Given the description of an element on the screen output the (x, y) to click on. 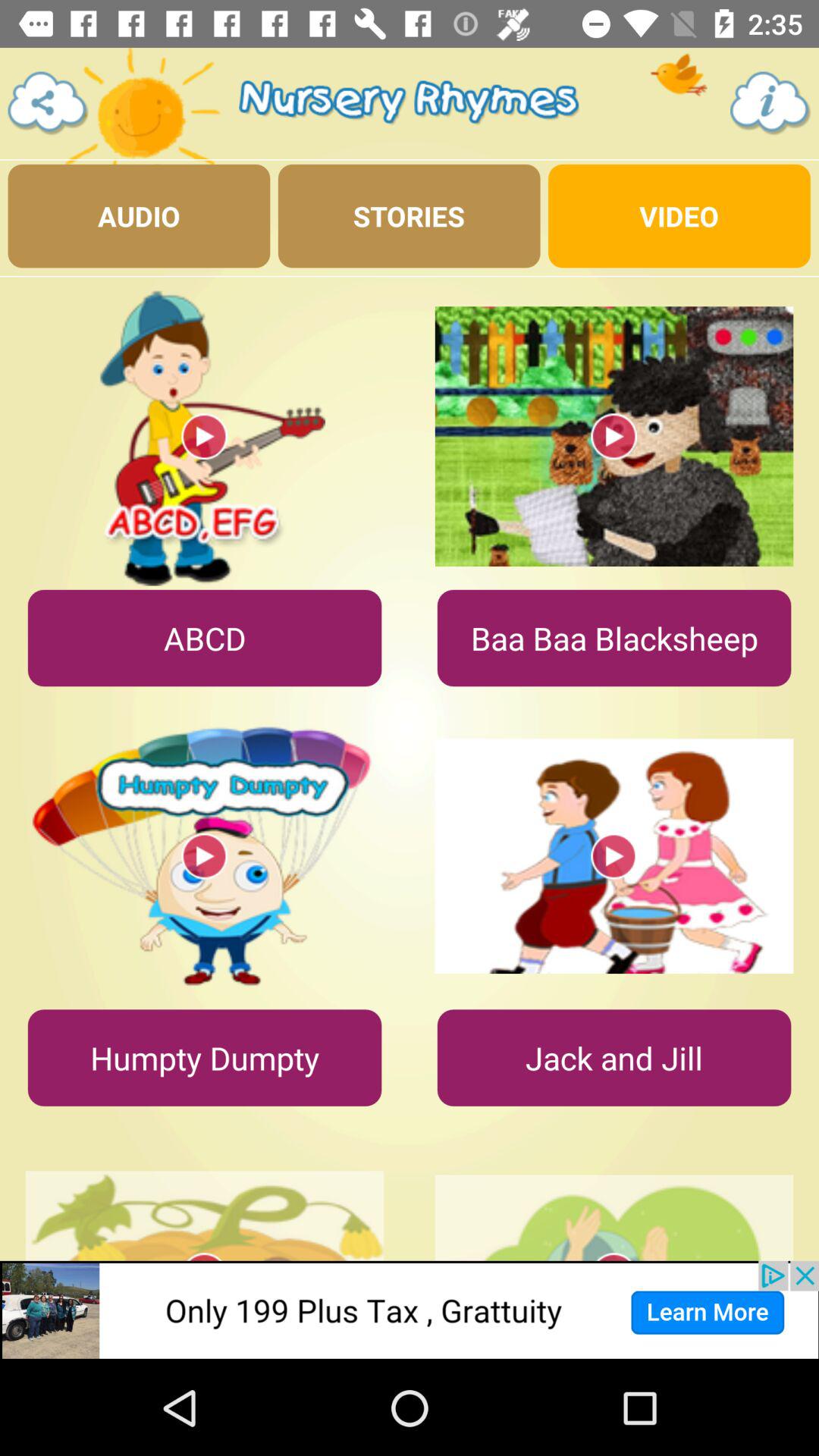
view more information (770, 103)
